Given the description of an element on the screen output the (x, y) to click on. 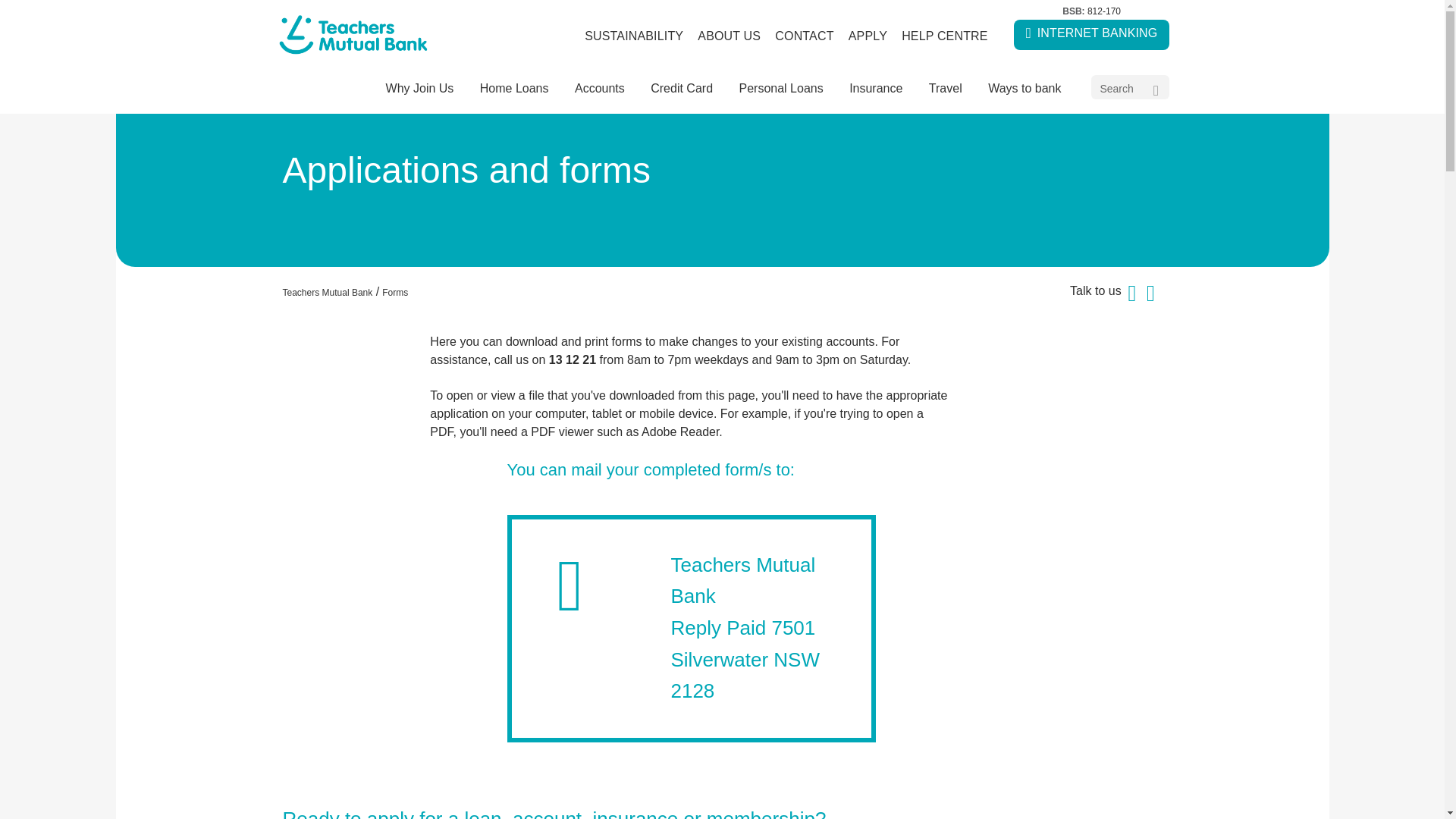
CONTACT (804, 36)
Insurance (876, 88)
Personal Loans (780, 88)
Ways to bank (1023, 88)
Teachers Mutual Bank (327, 292)
Home Loans (514, 88)
HELP CENTRE (945, 36)
Talk to us (1015, 298)
INTERNET BANKING (1091, 34)
Credit Card (681, 88)
